Given the description of an element on the screen output the (x, y) to click on. 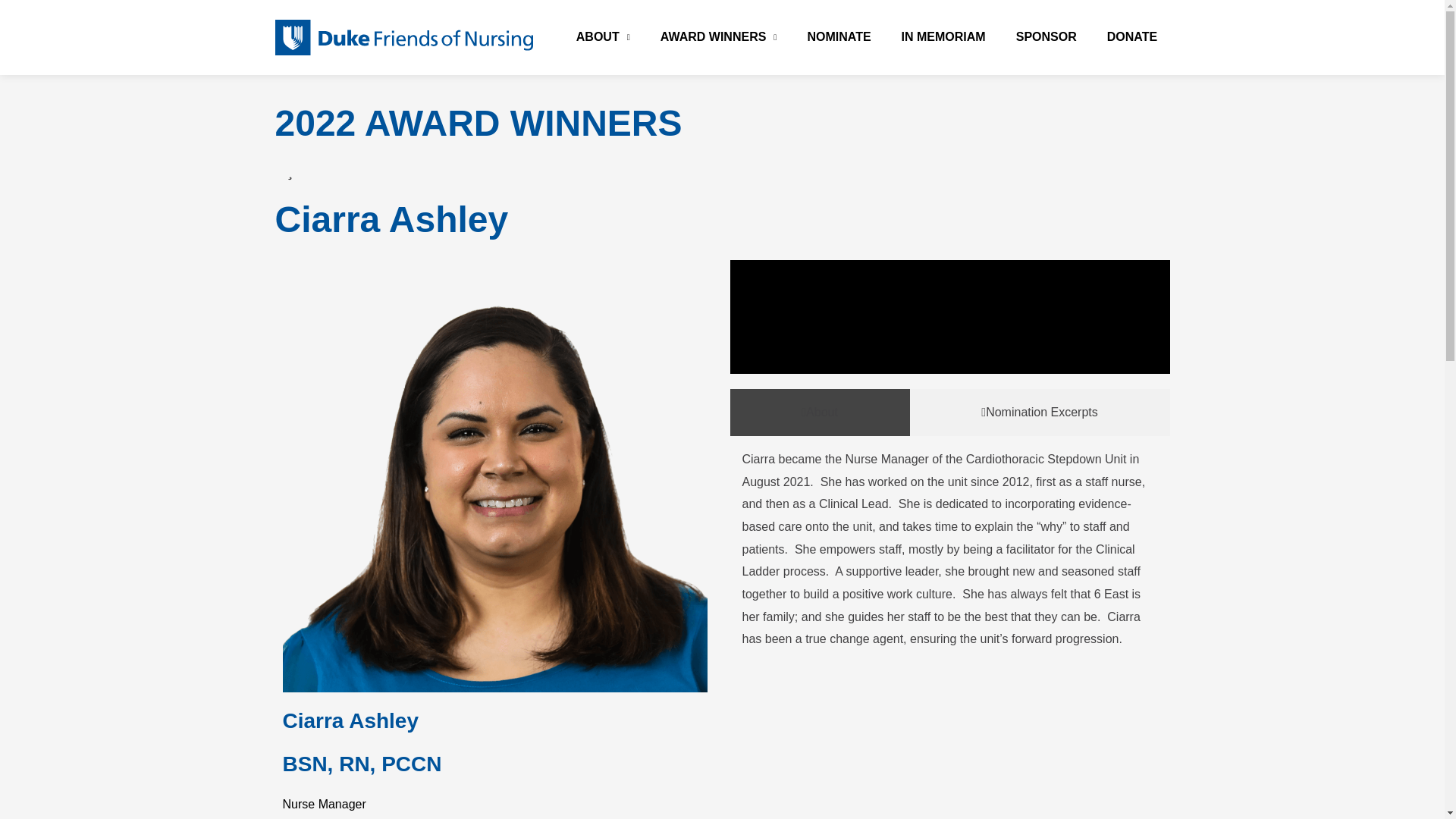
AWARD WINNERS (719, 36)
ABOUT (603, 36)
NOMINATE (838, 36)
youtube Video Player (949, 316)
DONATE (1131, 36)
IN MEMORIAM (943, 36)
SPONSOR (1046, 36)
